Given the description of an element on the screen output the (x, y) to click on. 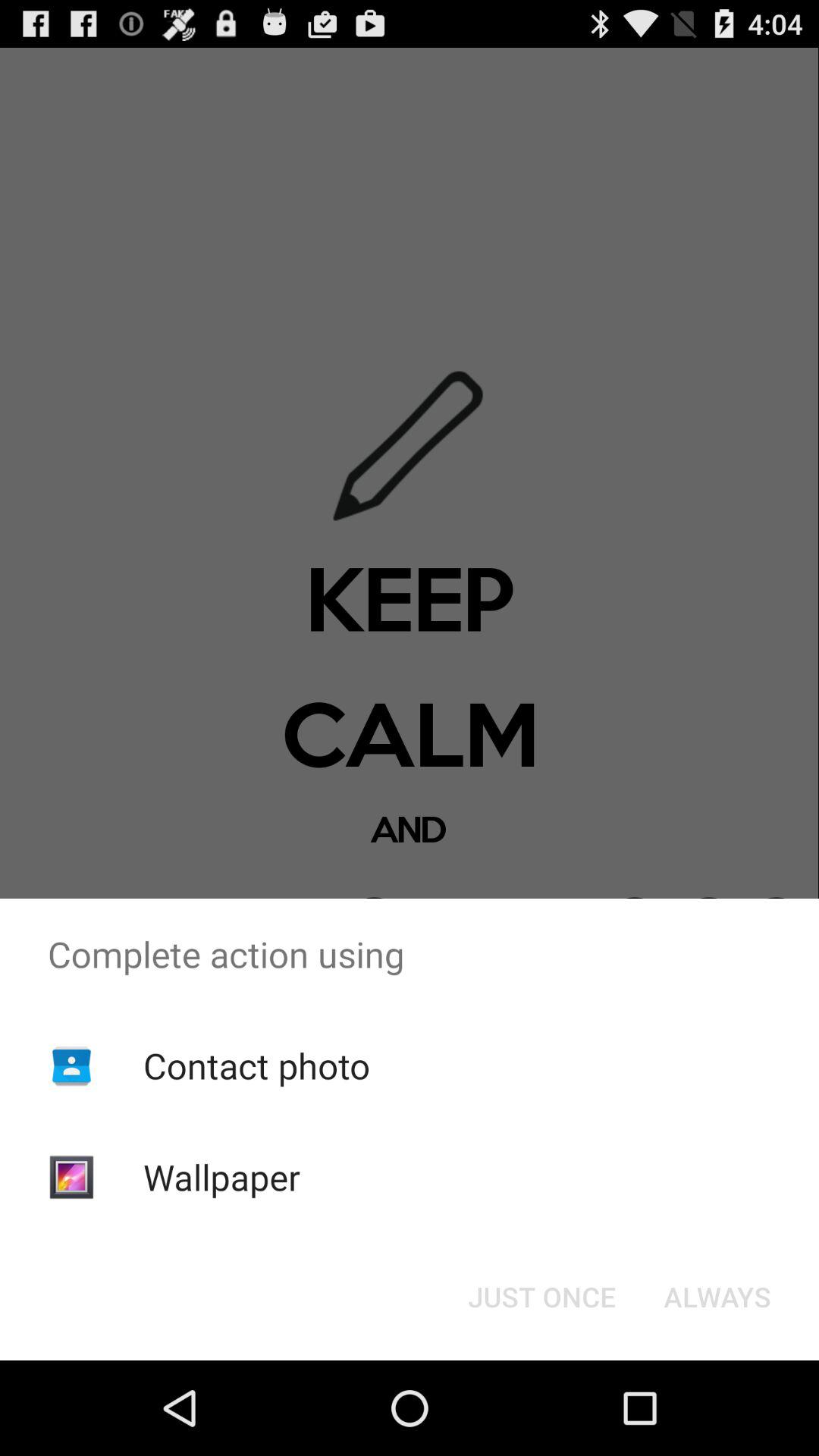
launch button to the left of the always icon (541, 1296)
